Given the description of an element on the screen output the (x, y) to click on. 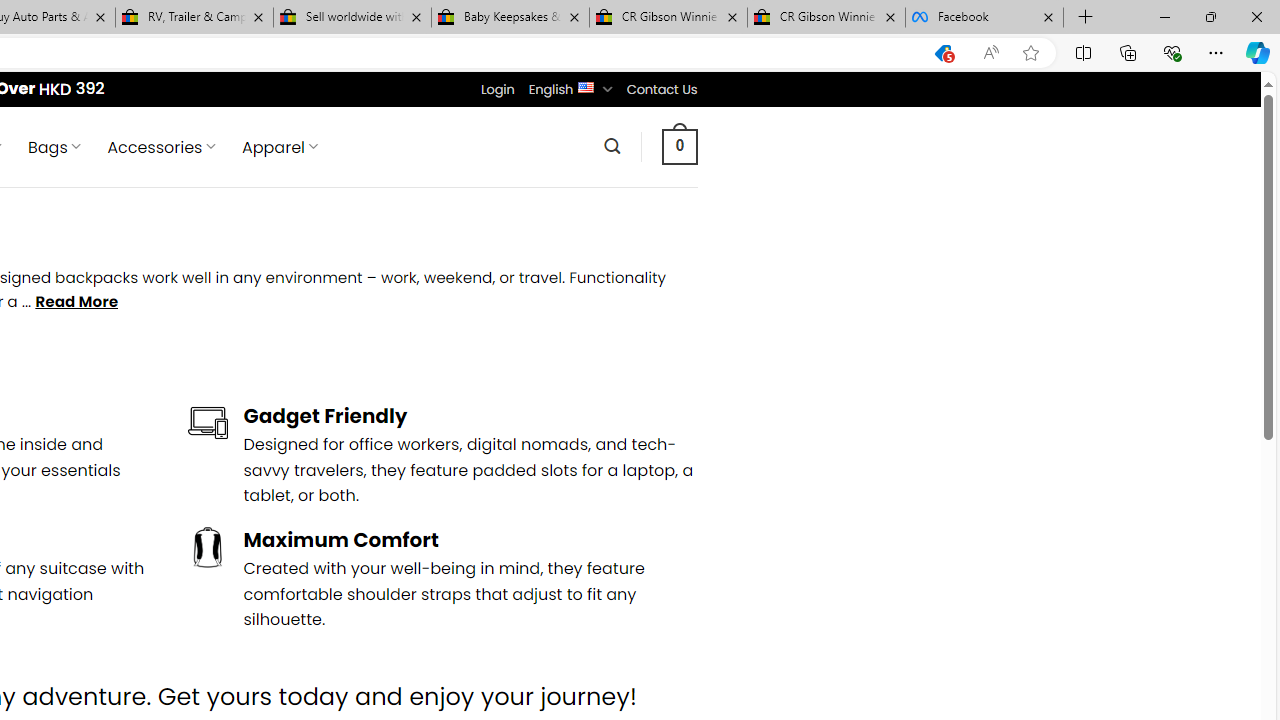
Read More (76, 301)
This site has coupons! Shopping in Microsoft Edge, 5 (943, 53)
